Given the description of an element on the screen output the (x, y) to click on. 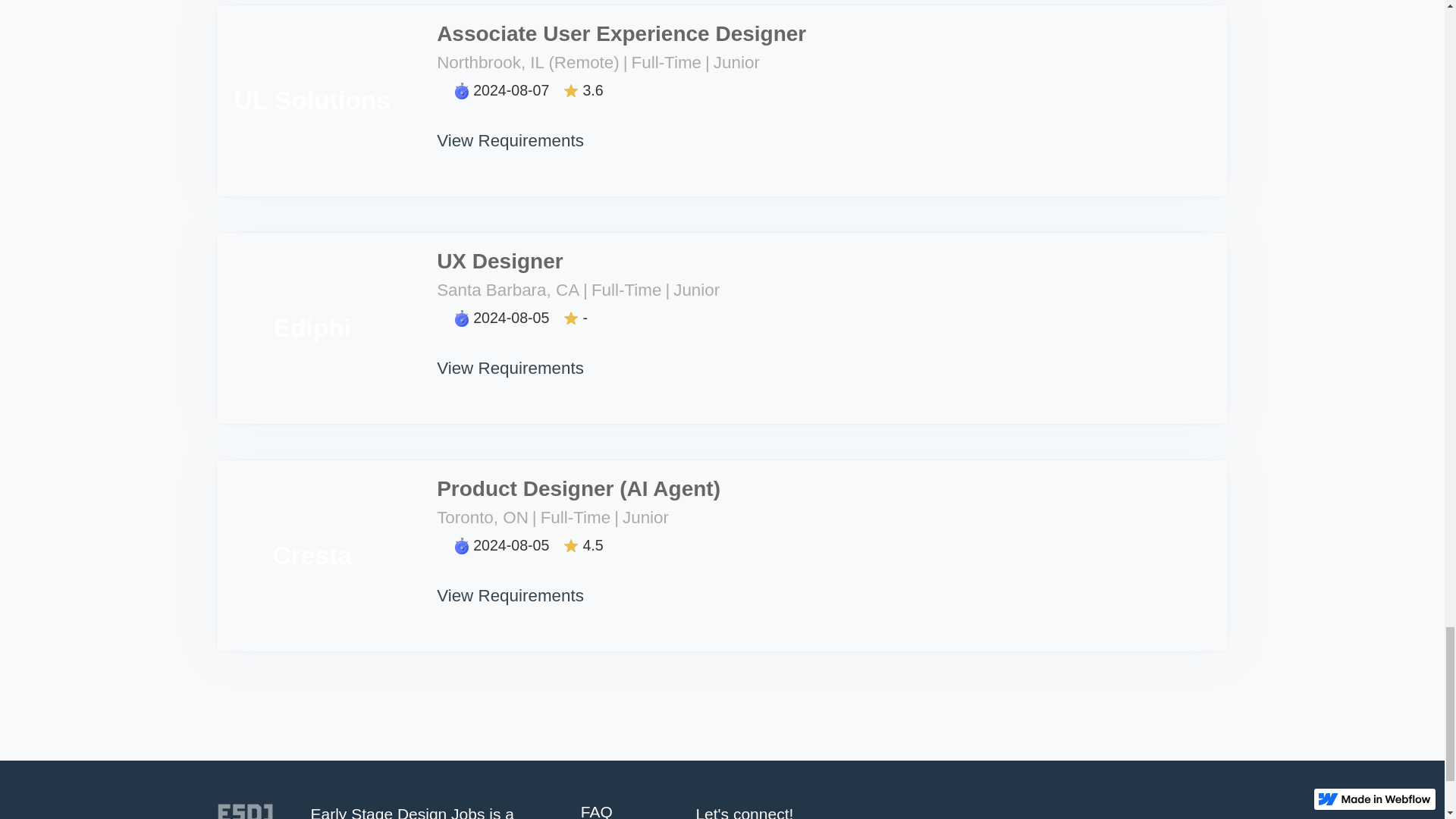
Cresta (311, 555)
FAQ (619, 811)
Ediphi (311, 328)
View Requirements (511, 582)
View Requirements (511, 127)
View Requirements (511, 355)
UL Solutions (311, 100)
